Given the description of an element on the screen output the (x, y) to click on. 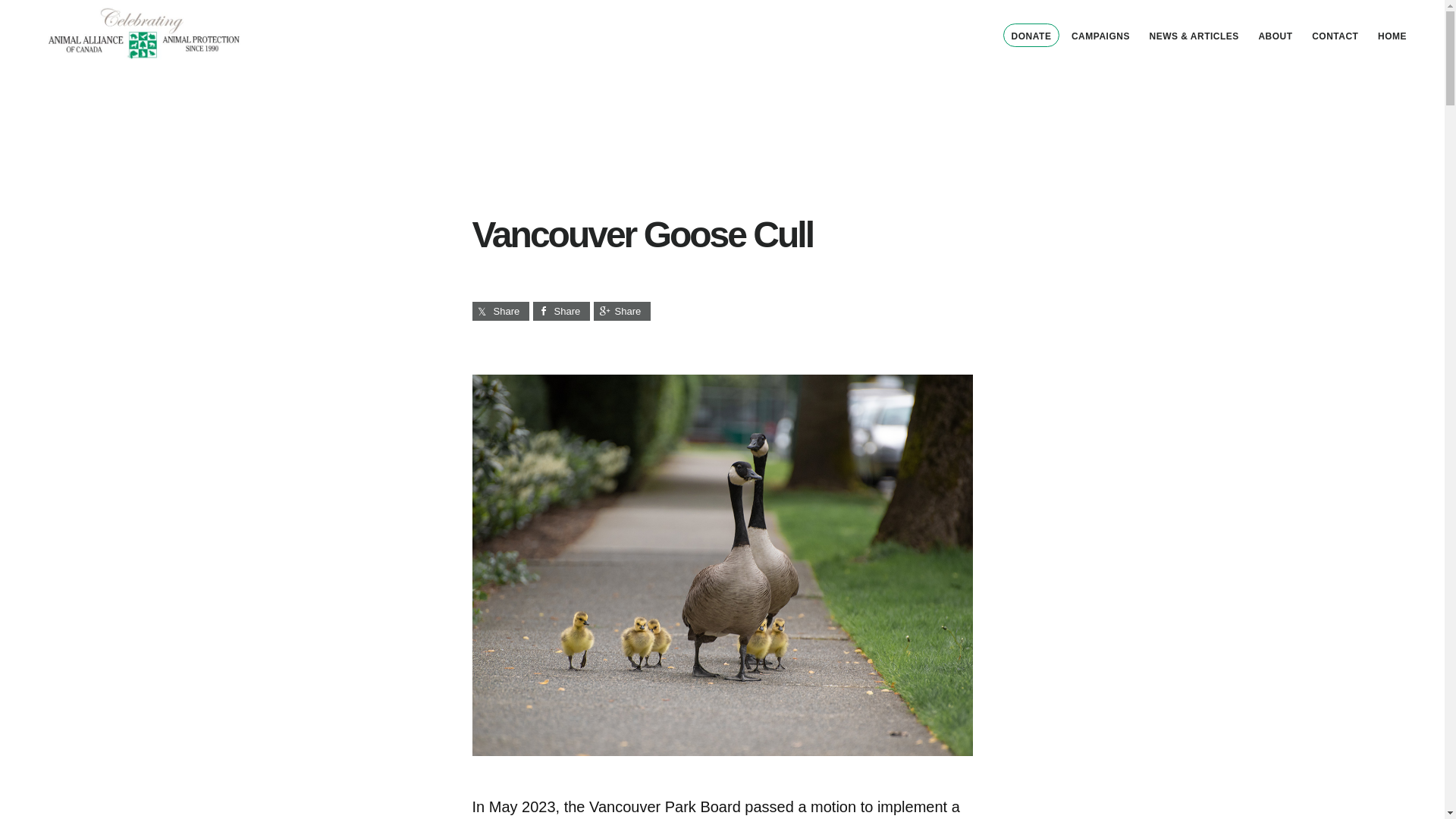
HOME (1391, 36)
Share (620, 311)
Share (499, 311)
CONTACT (1334, 36)
ANIMAL ALLIANCE OF CANADA (143, 32)
Share (560, 311)
DONATE (1031, 34)
ABOUT (1275, 36)
CAMPAIGNS (1100, 36)
